Given the description of an element on the screen output the (x, y) to click on. 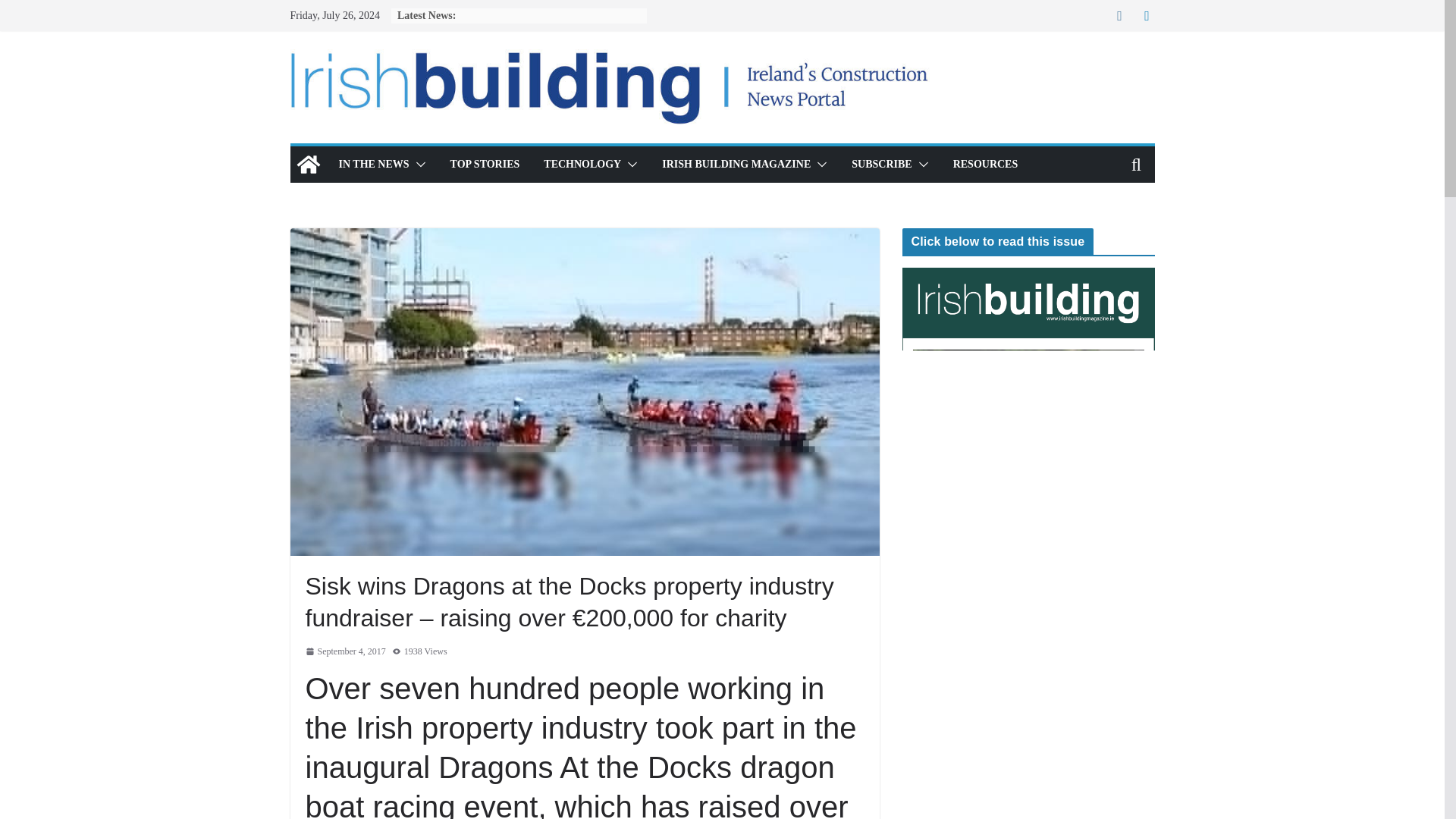
IRISH BUILDING MAGAZINE (736, 164)
IN THE NEWS (373, 164)
SUBSCRIBE (881, 164)
RESOURCES (985, 164)
1:09 pm (344, 651)
TECHNOLOGY (582, 164)
September 4, 2017 (344, 651)
TOP STORIES (484, 164)
Irish building magazine (307, 164)
